Given the description of an element on the screen output the (x, y) to click on. 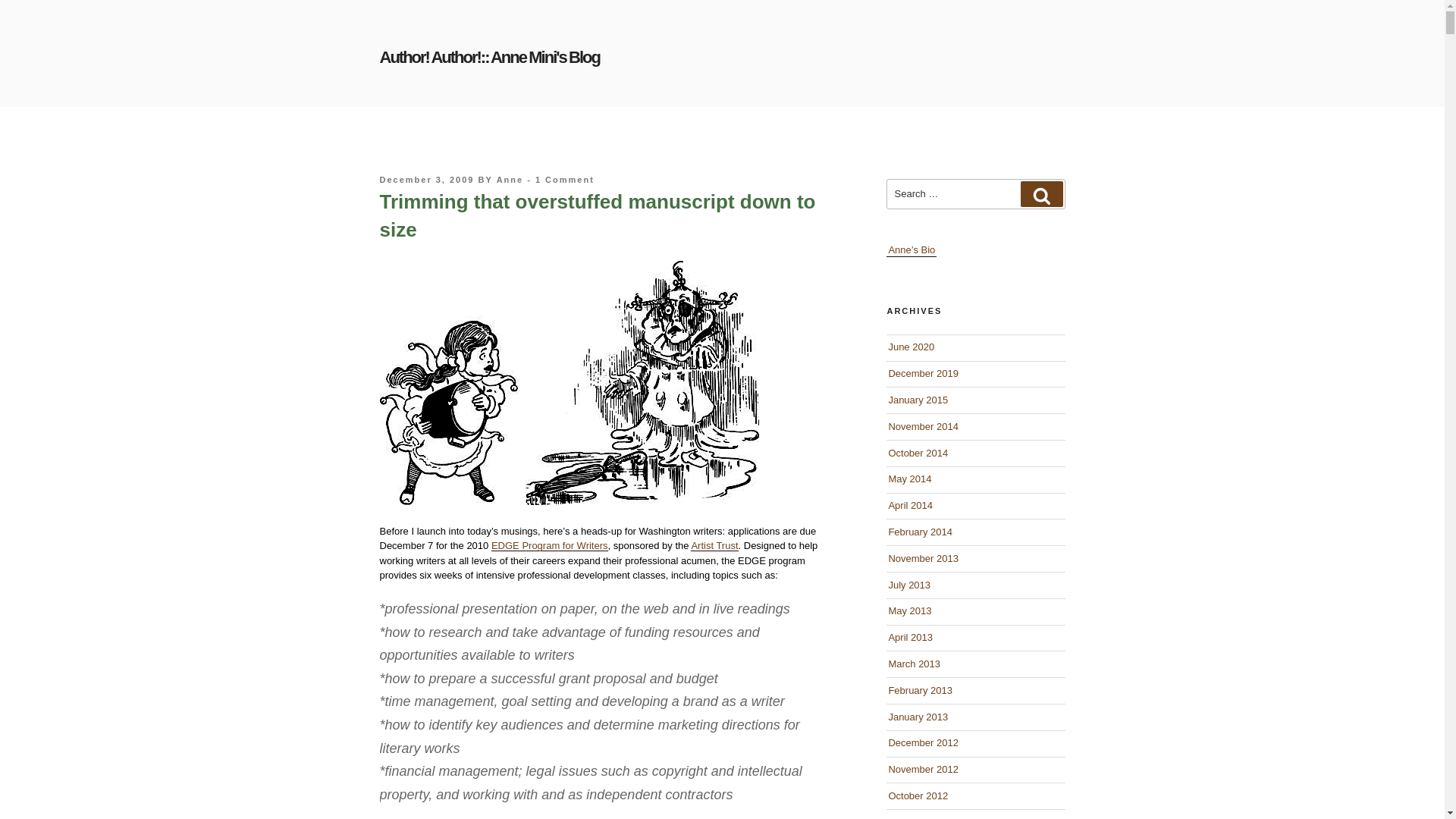
Artist Trust (714, 545)
EDGE Program for Writers (550, 545)
dorothy melting witch (568, 383)
Author! Author!:: Anne Mini's Blog (488, 56)
Search (1041, 193)
December 3, 2009 (426, 179)
Anne (510, 179)
